Given the description of an element on the screen output the (x, y) to click on. 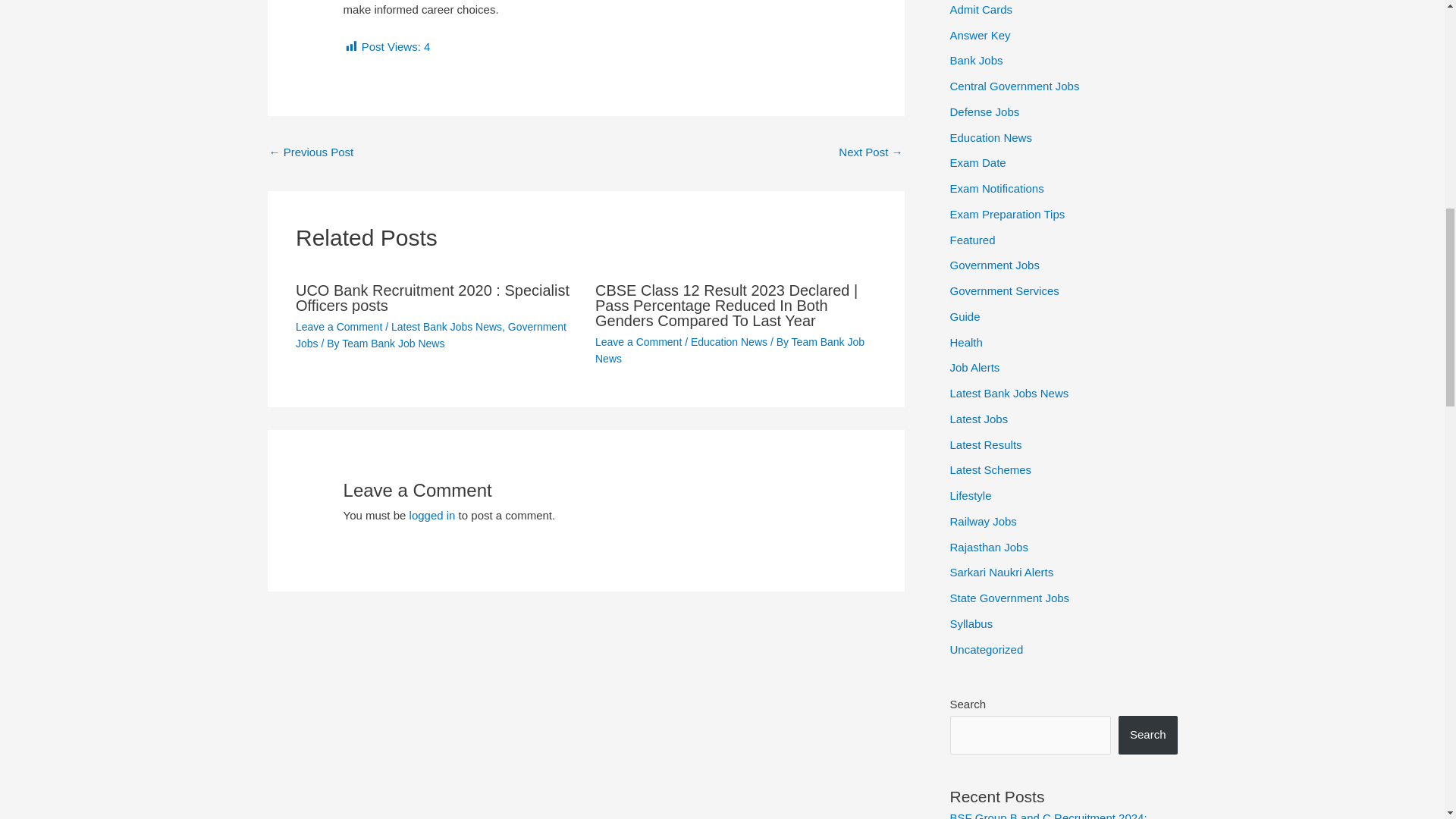
Team Bank Job News (393, 343)
Leave a Comment (338, 326)
Government Jobs (430, 335)
logged in (432, 514)
UCO Bank Recruitment 2020 : Specialist Officers posts (432, 297)
View all posts by Team Bank Job News (729, 348)
Leave a Comment (638, 340)
View all posts by Team Bank Job News (393, 343)
Team Bank Job News (729, 348)
